Given the description of an element on the screen output the (x, y) to click on. 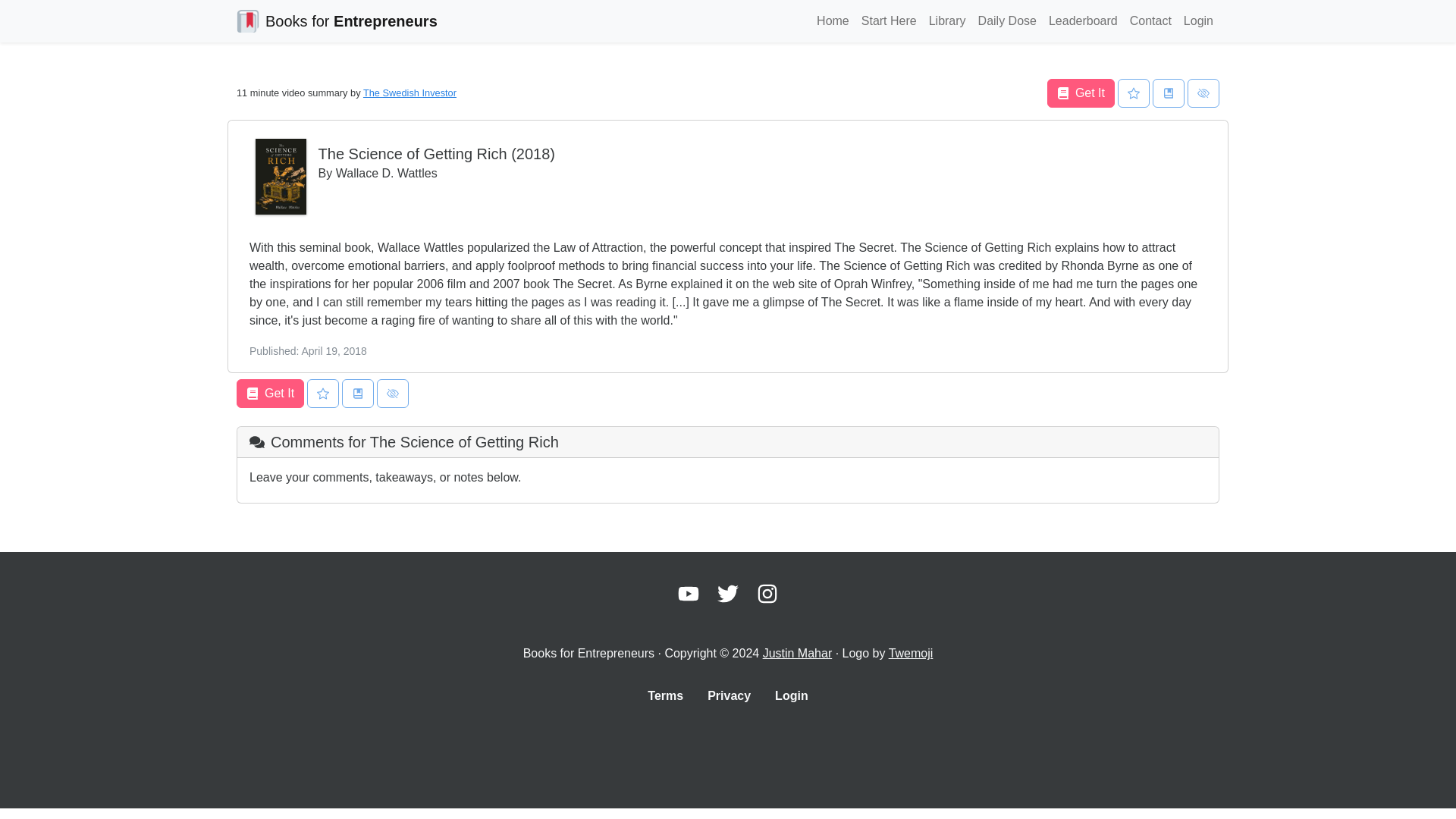
Get It (269, 393)
Books for Entrepreneurs (336, 20)
Twemoji (910, 653)
Terms (664, 695)
Contact (1150, 20)
Privacy (728, 695)
Leaderboard (1083, 20)
Login (1198, 20)
Home (833, 20)
Daily Dose (1007, 20)
Get It (1080, 92)
Justin Mahar (797, 653)
Library (947, 20)
Start Here (889, 20)
The Swedish Investor (409, 92)
